Given the description of an element on the screen output the (x, y) to click on. 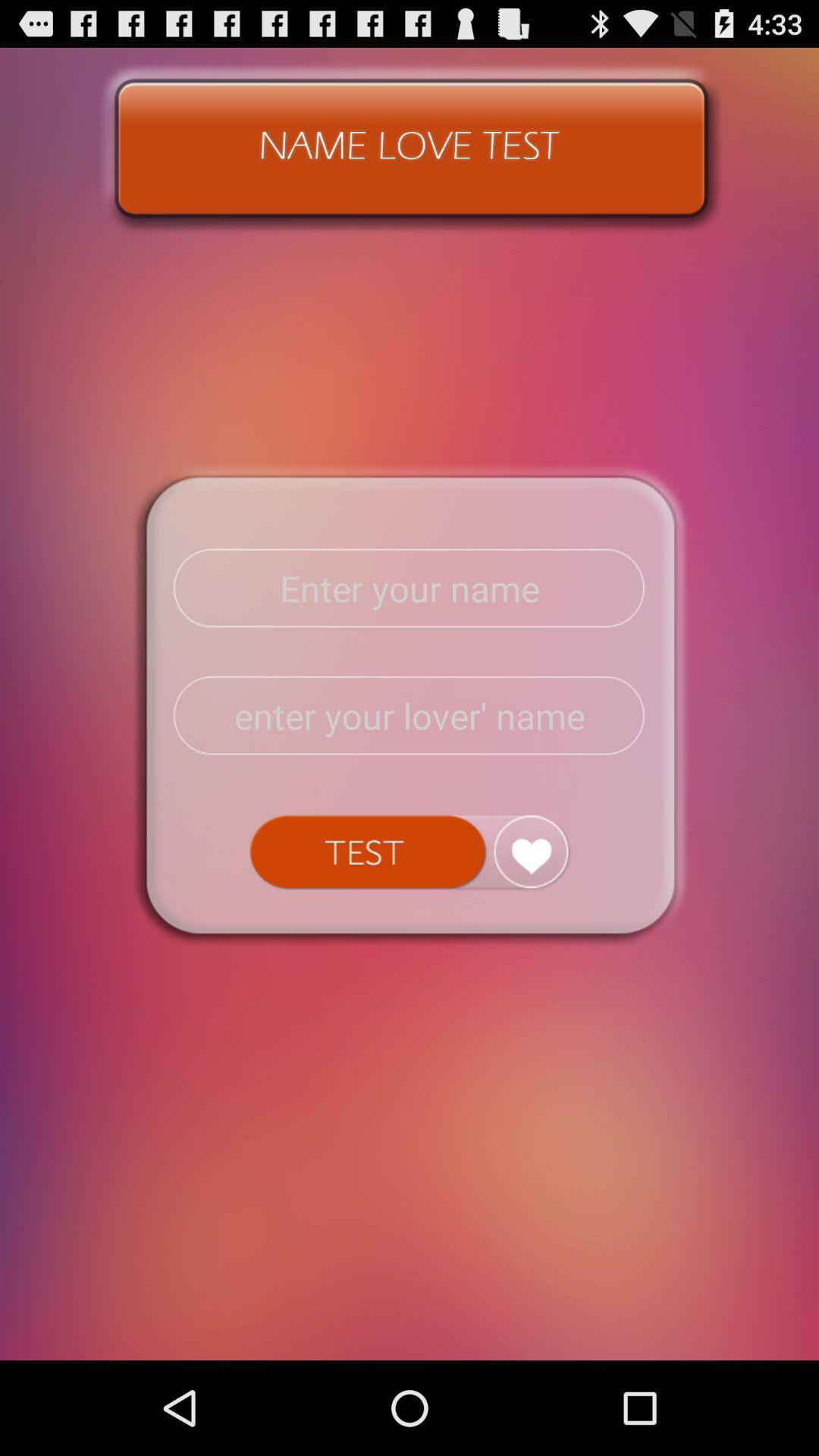
submit test (408, 851)
